Given the description of an element on the screen output the (x, y) to click on. 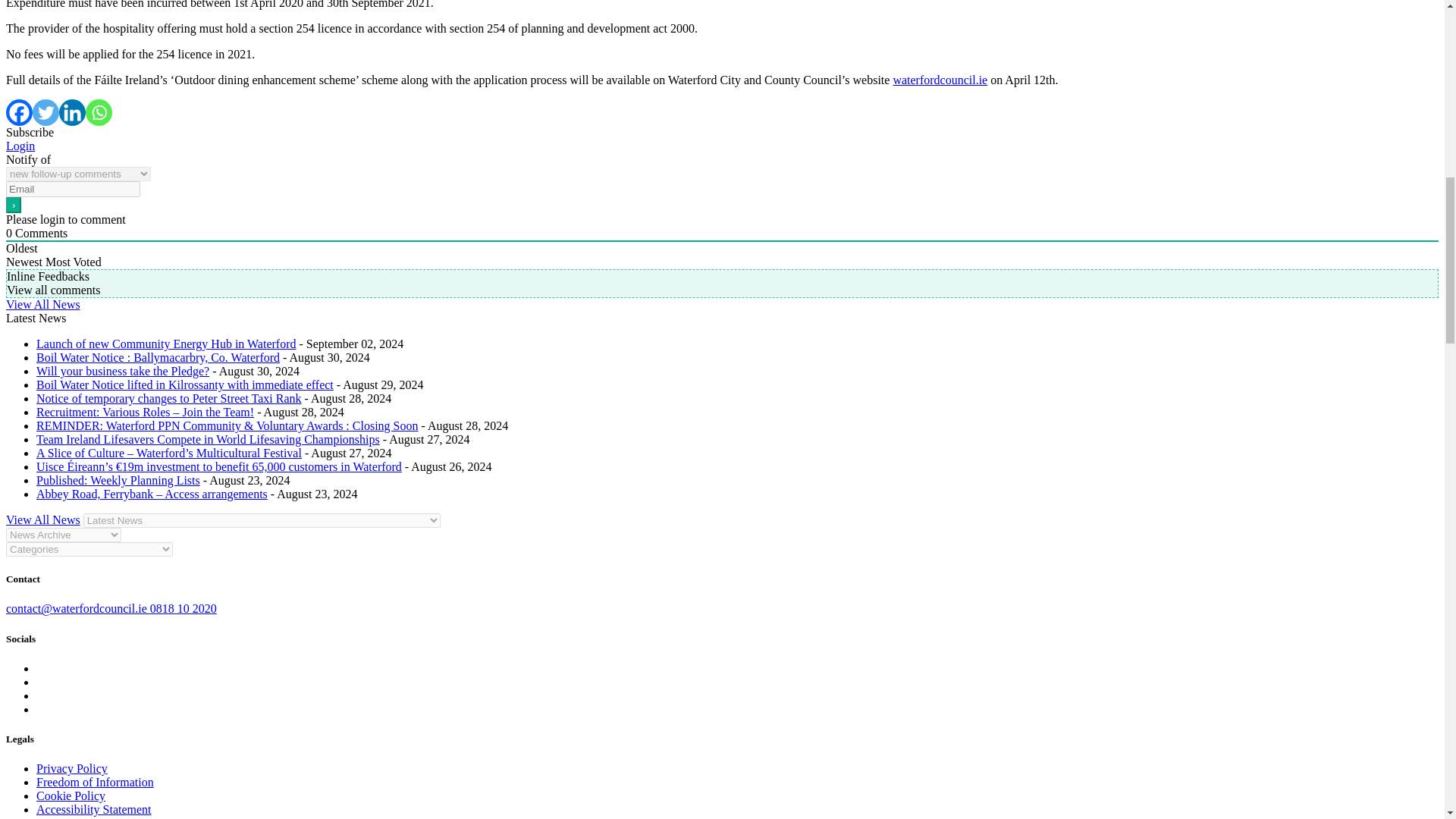
Cookie Policy (70, 795)
Boil Water Notice : Ballymacarbry, Co. Waterford (157, 357)
Notice of temporary changes to Peter Street Taxi Rank (168, 398)
waterfordcouncil.ie (939, 79)
Facebook (18, 112)
Privacy Policy (71, 768)
View All News (42, 519)
Linkedin (72, 112)
Published: Weekly Planning Lists (118, 480)
View All News (42, 304)
